Given the description of an element on the screen output the (x, y) to click on. 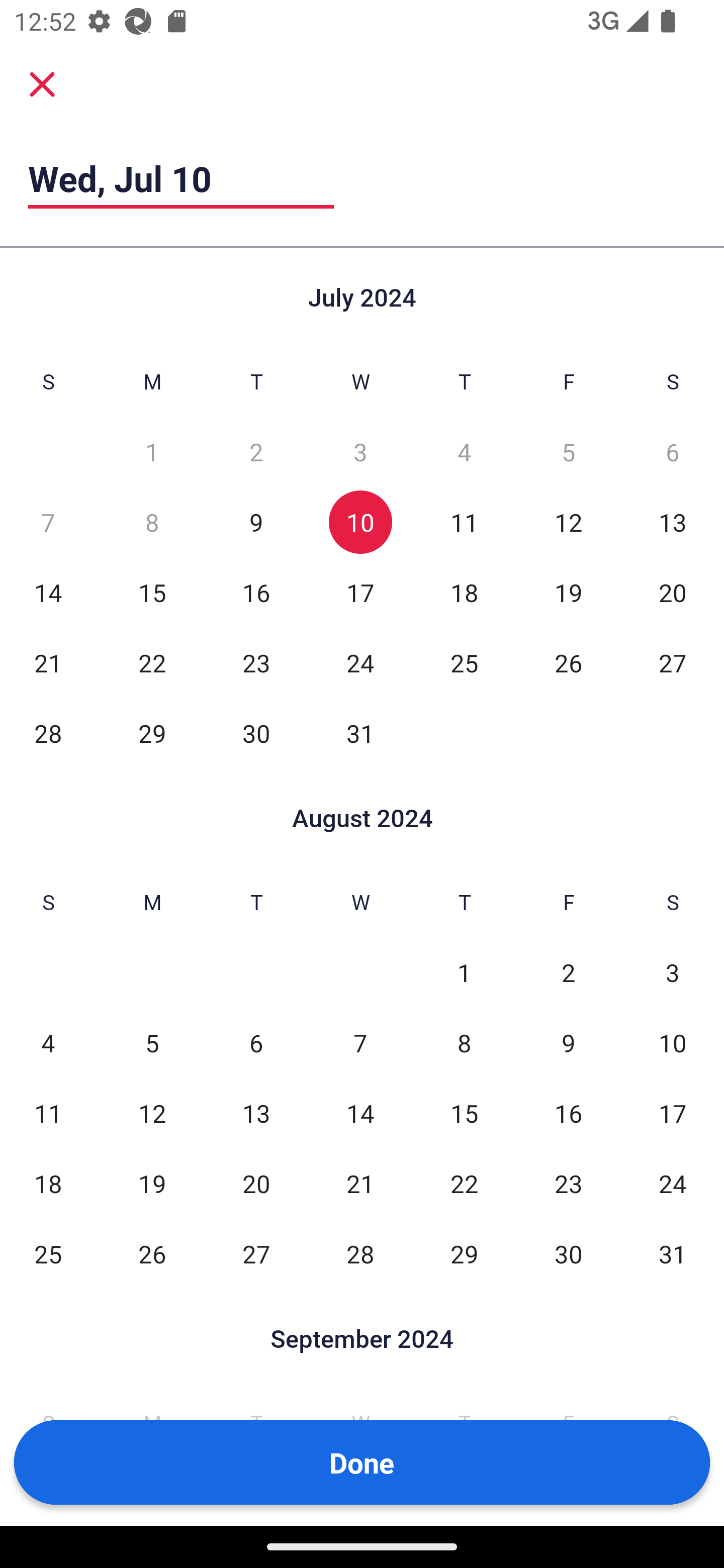
Cancel (42, 84)
Wed, Jul 10 (180, 178)
1 Mon, Jul 1, Not Selected (152, 452)
2 Tue, Jul 2, Not Selected (256, 452)
3 Wed, Jul 3, Not Selected (360, 452)
4 Thu, Jul 4, Not Selected (464, 452)
5 Fri, Jul 5, Not Selected (568, 452)
6 Sat, Jul 6, Not Selected (672, 452)
7 Sun, Jul 7, Not Selected (48, 521)
8 Mon, Jul 8, Not Selected (152, 521)
9 Tue, Jul 9, Not Selected (256, 521)
10 Wed, Jul 10, Selected (360, 521)
11 Thu, Jul 11, Not Selected (464, 521)
12 Fri, Jul 12, Not Selected (568, 521)
13 Sat, Jul 13, Not Selected (672, 521)
14 Sun, Jul 14, Not Selected (48, 591)
15 Mon, Jul 15, Not Selected (152, 591)
16 Tue, Jul 16, Not Selected (256, 591)
17 Wed, Jul 17, Not Selected (360, 591)
18 Thu, Jul 18, Not Selected (464, 591)
19 Fri, Jul 19, Not Selected (568, 591)
20 Sat, Jul 20, Not Selected (672, 591)
21 Sun, Jul 21, Not Selected (48, 662)
22 Mon, Jul 22, Not Selected (152, 662)
23 Tue, Jul 23, Not Selected (256, 662)
24 Wed, Jul 24, Not Selected (360, 662)
25 Thu, Jul 25, Not Selected (464, 662)
26 Fri, Jul 26, Not Selected (568, 662)
27 Sat, Jul 27, Not Selected (672, 662)
28 Sun, Jul 28, Not Selected (48, 732)
29 Mon, Jul 29, Not Selected (152, 732)
30 Tue, Jul 30, Not Selected (256, 732)
31 Wed, Jul 31, Not Selected (360, 732)
1 Thu, Aug 1, Not Selected (464, 972)
2 Fri, Aug 2, Not Selected (568, 972)
3 Sat, Aug 3, Not Selected (672, 972)
4 Sun, Aug 4, Not Selected (48, 1043)
5 Mon, Aug 5, Not Selected (152, 1043)
6 Tue, Aug 6, Not Selected (256, 1043)
7 Wed, Aug 7, Not Selected (360, 1043)
8 Thu, Aug 8, Not Selected (464, 1043)
9 Fri, Aug 9, Not Selected (568, 1043)
10 Sat, Aug 10, Not Selected (672, 1043)
11 Sun, Aug 11, Not Selected (48, 1112)
12 Mon, Aug 12, Not Selected (152, 1112)
13 Tue, Aug 13, Not Selected (256, 1112)
14 Wed, Aug 14, Not Selected (360, 1112)
15 Thu, Aug 15, Not Selected (464, 1112)
16 Fri, Aug 16, Not Selected (568, 1112)
17 Sat, Aug 17, Not Selected (672, 1112)
18 Sun, Aug 18, Not Selected (48, 1182)
19 Mon, Aug 19, Not Selected (152, 1182)
20 Tue, Aug 20, Not Selected (256, 1182)
21 Wed, Aug 21, Not Selected (360, 1182)
22 Thu, Aug 22, Not Selected (464, 1182)
23 Fri, Aug 23, Not Selected (568, 1182)
24 Sat, Aug 24, Not Selected (672, 1182)
25 Sun, Aug 25, Not Selected (48, 1253)
26 Mon, Aug 26, Not Selected (152, 1253)
27 Tue, Aug 27, Not Selected (256, 1253)
28 Wed, Aug 28, Not Selected (360, 1253)
29 Thu, Aug 29, Not Selected (464, 1253)
30 Fri, Aug 30, Not Selected (568, 1253)
31 Sat, Aug 31, Not Selected (672, 1253)
Done Button Done (361, 1462)
